Given the description of an element on the screen output the (x, y) to click on. 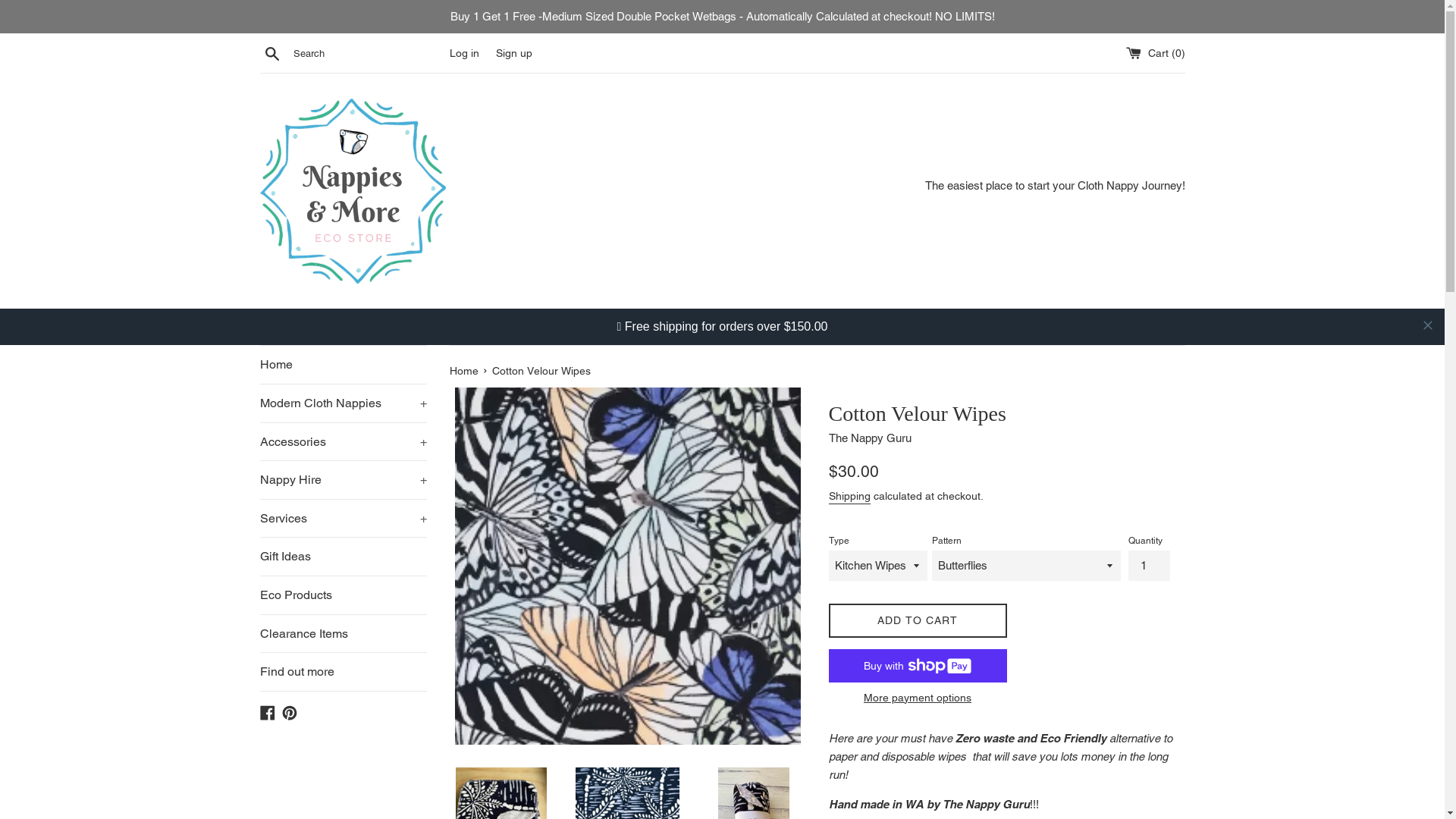
Gift Ideas Element type: text (342, 558)
Modern Cloth Nappies
+ Element type: text (342, 366)
Pinterest Element type: text (289, 713)
Clearance Items Element type: text (342, 636)
Facebook Element type: text (266, 713)
Sign up Element type: text (513, 53)
Log in Element type: text (463, 53)
Cart (0) Element type: text (1154, 53)
Nappy Hire
+ Element type: text (342, 443)
Home Element type: text (464, 373)
ADD TO CART Element type: text (917, 620)
Shipping Element type: text (848, 496)
Search Element type: text (271, 52)
Home Element type: text (342, 328)
Accessories
+ Element type: text (342, 405)
Find out more Element type: text (342, 674)
Services
+ Element type: text (342, 482)
More payment options Element type: text (917, 697)
Eco Products Element type: text (342, 597)
